Given the description of an element on the screen output the (x, y) to click on. 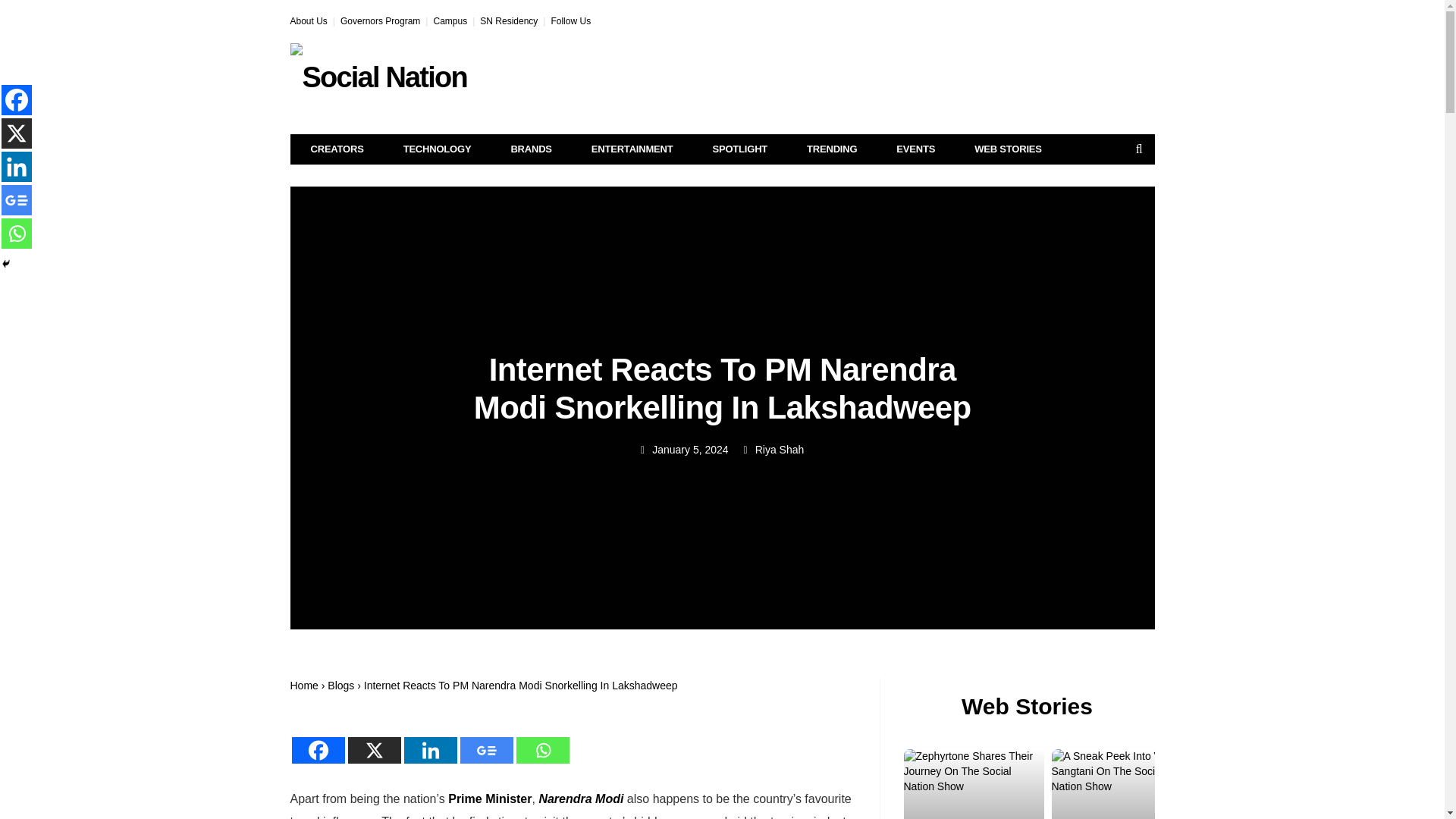
Campus (449, 20)
TRENDING (831, 149)
Home (303, 685)
About Us (307, 20)
Blogs (340, 685)
ENTERTAINMENT (632, 149)
Riya Shah (780, 449)
SN Residency (508, 20)
Facebook (317, 740)
BRANDS (530, 149)
WEB STORIES (1008, 149)
Whatsapp (542, 740)
Google News (486, 740)
